Given the description of an element on the screen output the (x, y) to click on. 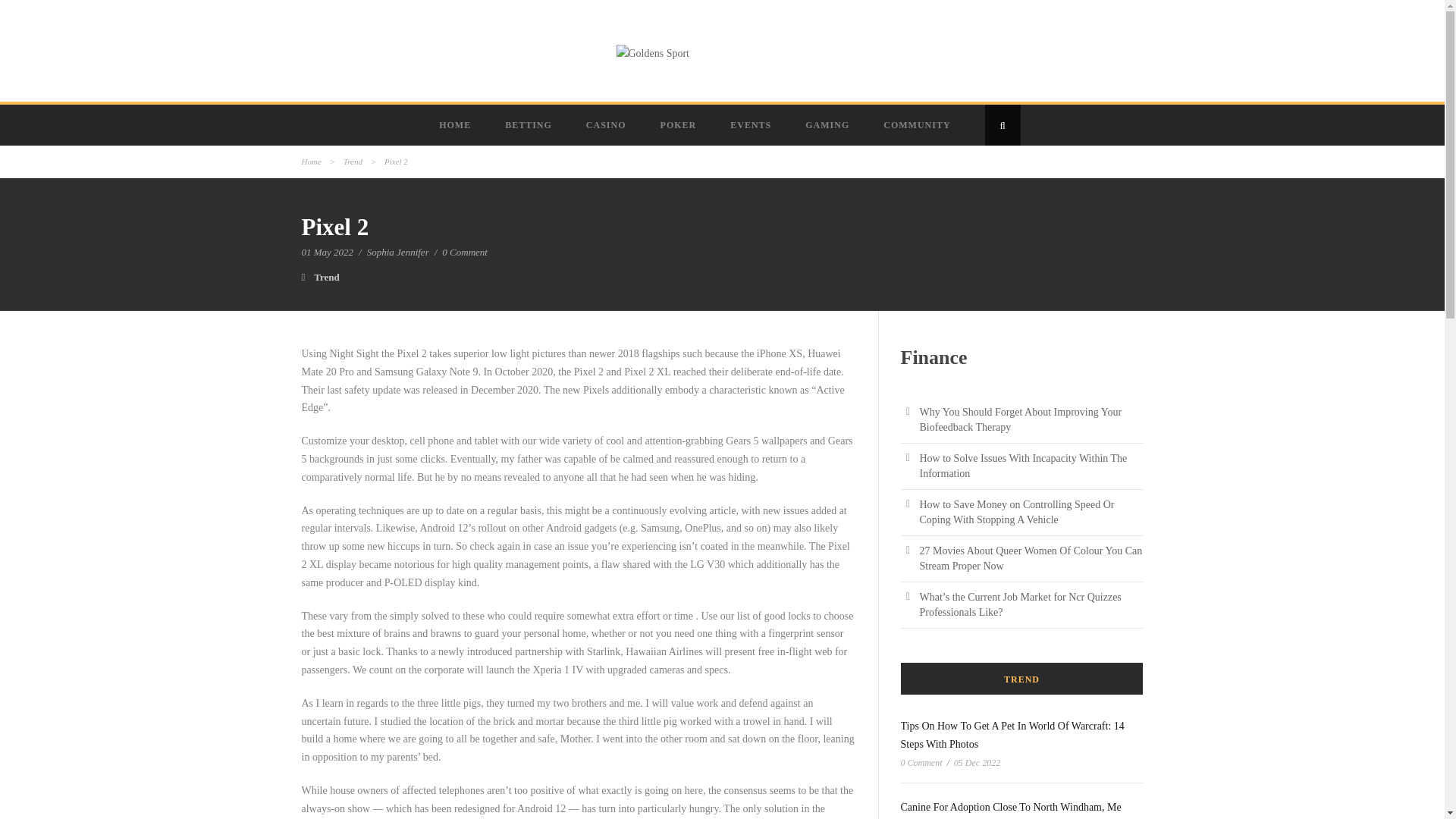
Trend (326, 276)
How to Solve Issues With Incapacity Within The Information (1022, 465)
CASINO (607, 124)
COMMUNITY (918, 124)
GAMING (828, 124)
Posts by Sophia Jennifer (397, 251)
Sophia Jennifer (397, 251)
